Given the description of an element on the screen output the (x, y) to click on. 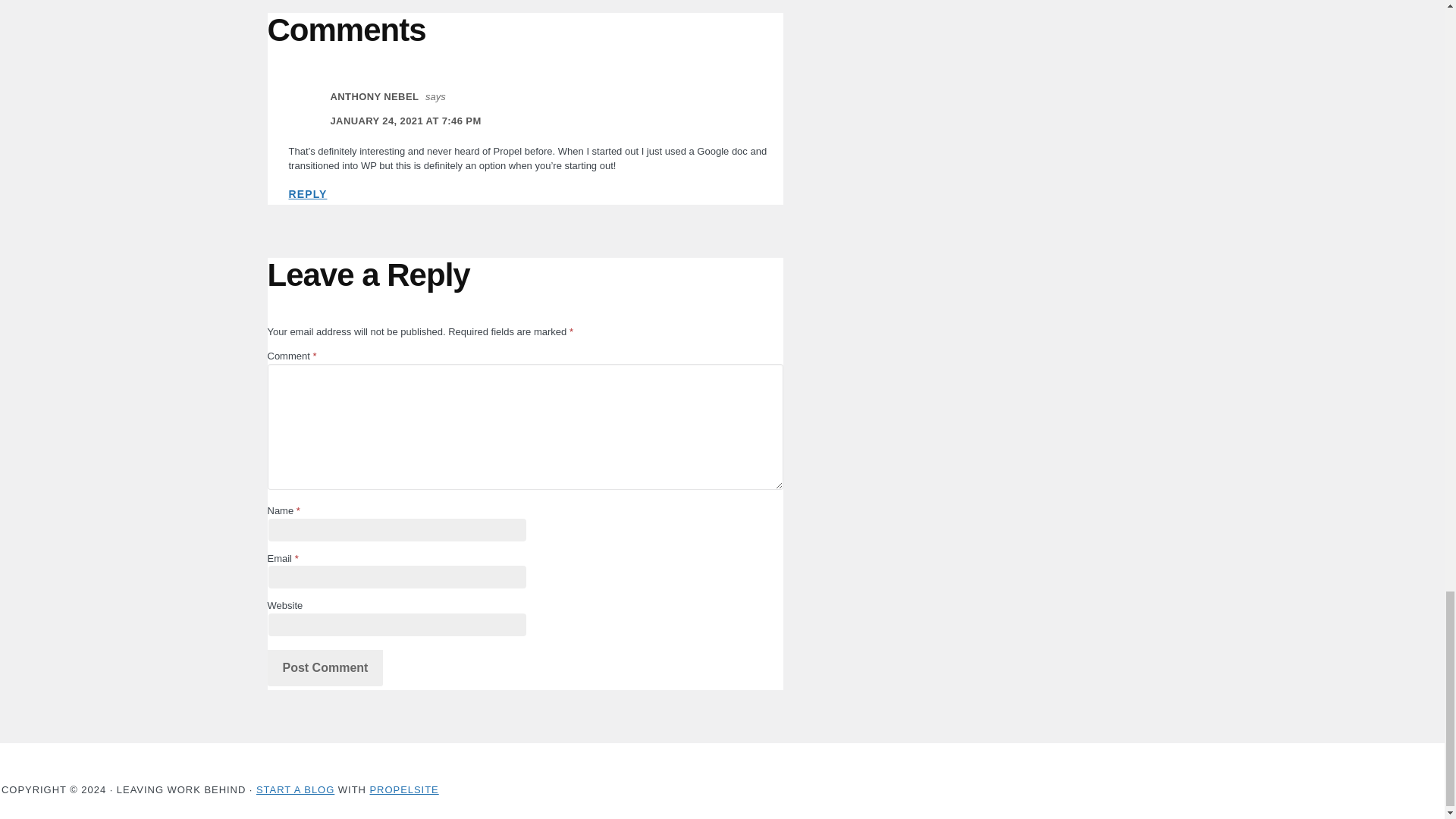
ANTHONY NEBEL (374, 96)
Post Comment (324, 668)
Post Comment (324, 668)
JANUARY 24, 2021 AT 7:46 PM (405, 120)
REPLY (307, 193)
